Given the description of an element on the screen output the (x, y) to click on. 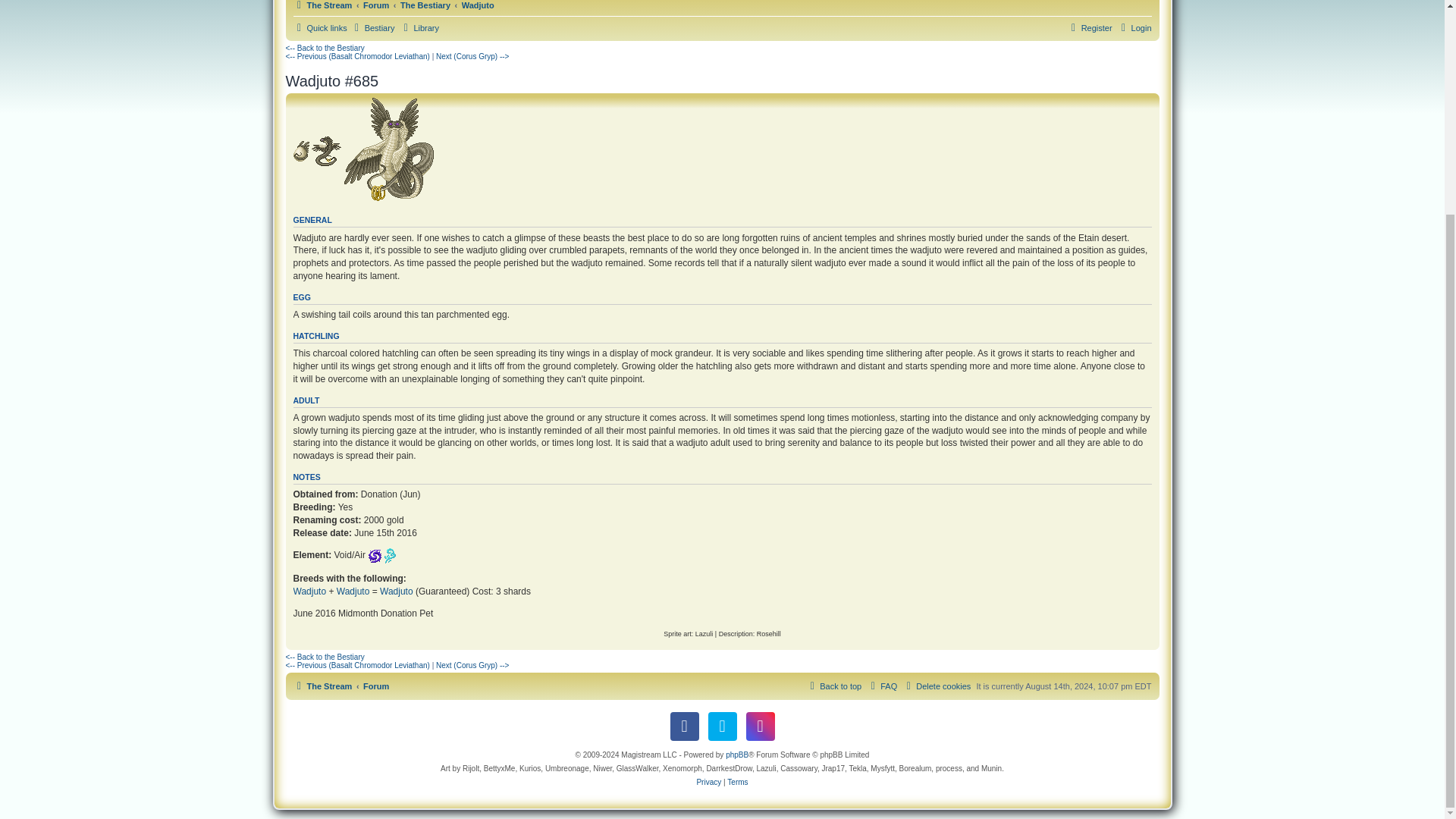
Delete cookies (936, 686)
Quick links (319, 27)
Register (1089, 27)
Wadjuto (478, 7)
The Stream (322, 686)
Login (1134, 27)
The Stream (322, 7)
Bestiary (372, 27)
Forum (375, 686)
Wadjuto (352, 591)
